Given the description of an element on the screen output the (x, y) to click on. 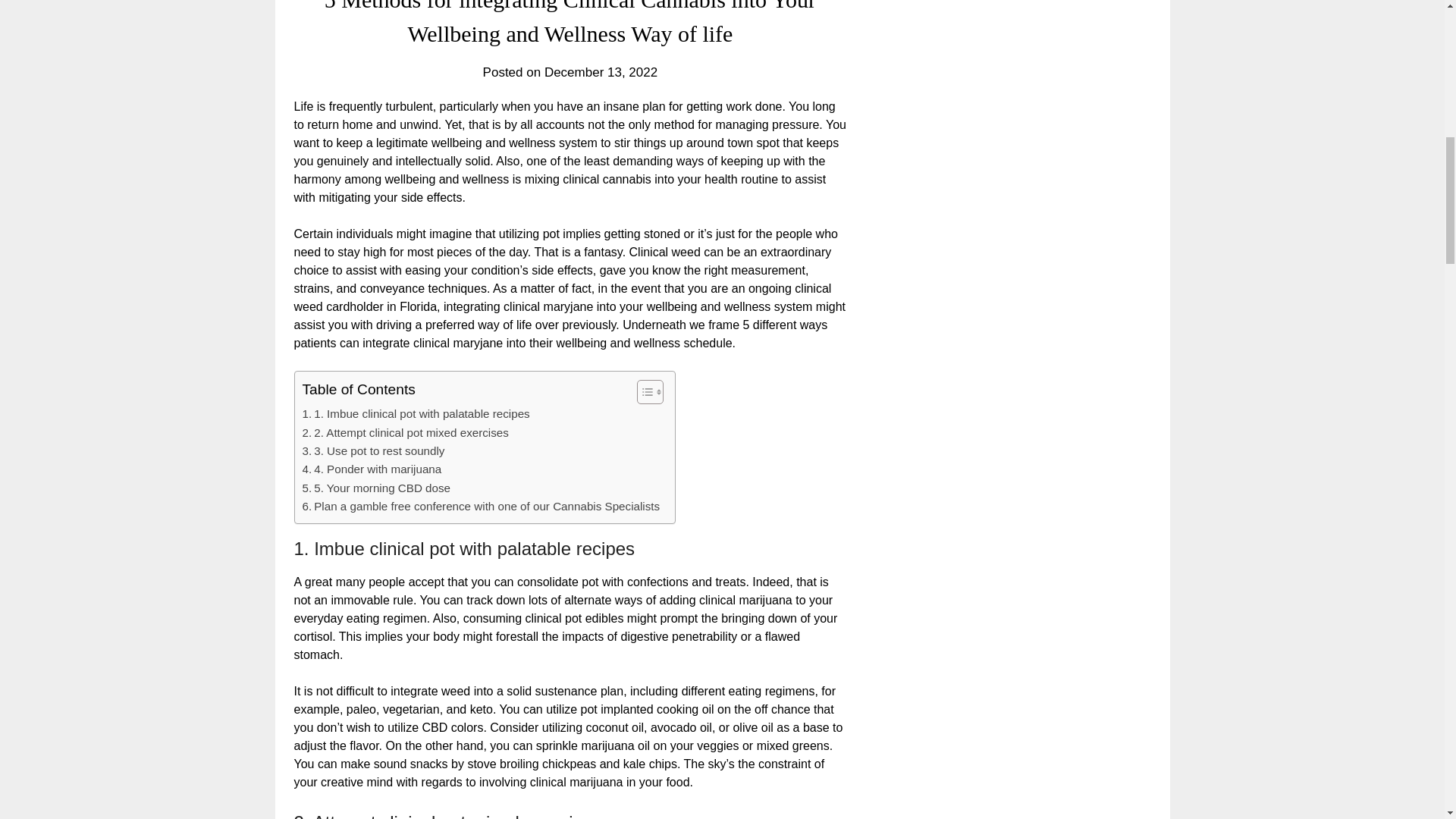
5. Your morning CBD dose (375, 488)
3. Use pot to rest soundly (372, 451)
1. Imbue clinical pot with palatable recipes (415, 413)
2. Attempt clinical pot mixed exercises (404, 433)
1. Imbue clinical pot with palatable recipes (415, 413)
2. Attempt clinical pot mixed exercises (404, 433)
5. Your morning CBD dose (375, 488)
4. Ponder with marijuana (371, 469)
4. Ponder with marijuana (371, 469)
3. Use pot to rest soundly (372, 451)
